Given the description of an element on the screen output the (x, y) to click on. 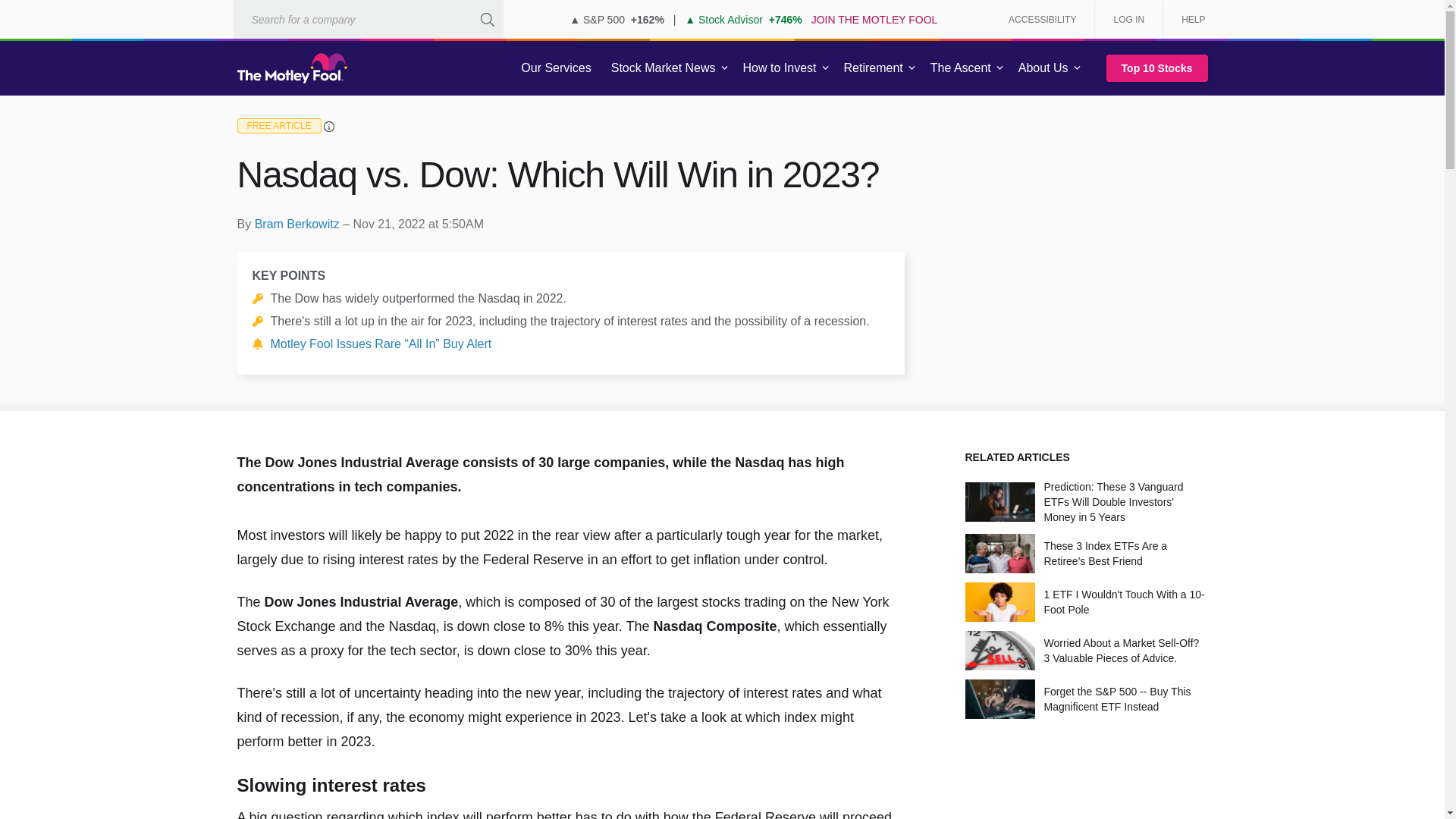
Our Services (555, 67)
How to Invest (779, 67)
Stock Market News (662, 67)
ACCESSIBILITY (1042, 19)
LOG IN (1128, 19)
HELP (1187, 19)
